Given the description of an element on the screen output the (x, y) to click on. 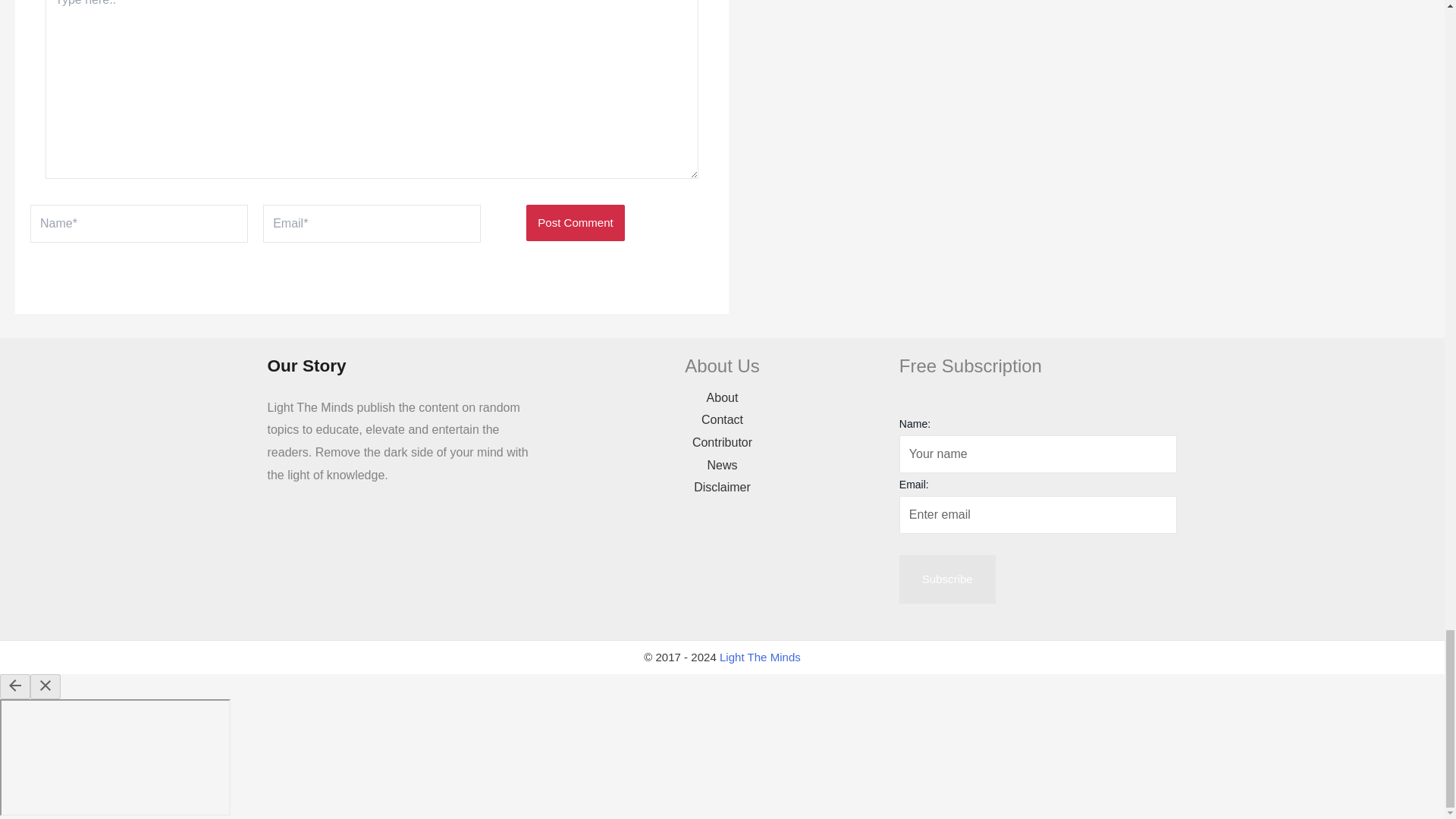
Post Comment (574, 222)
Your name (1038, 453)
Subscribe (947, 579)
Enter email (1038, 514)
